Given the description of an element on the screen output the (x, y) to click on. 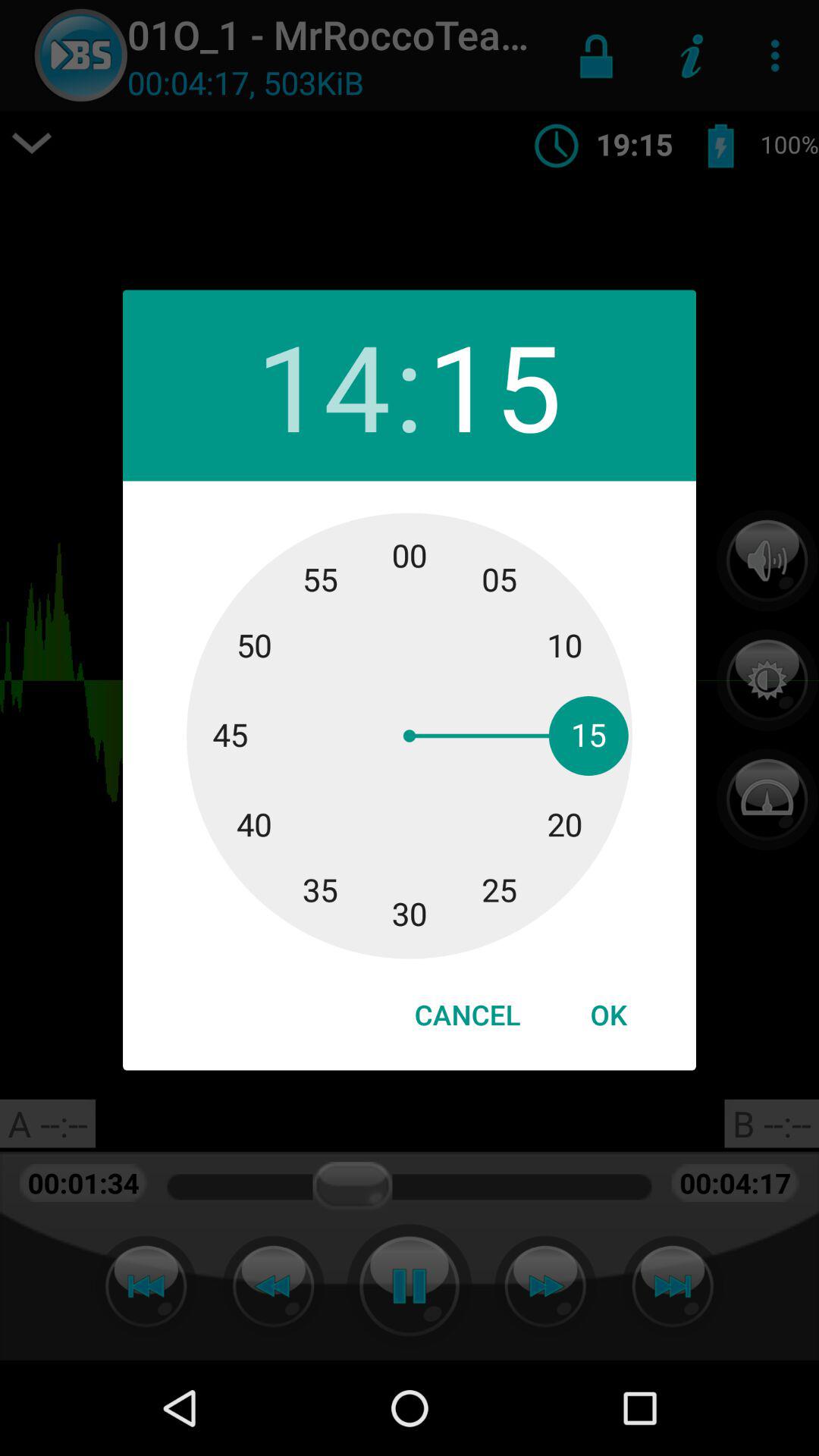
scroll to 14 (323, 384)
